Given the description of an element on the screen output the (x, y) to click on. 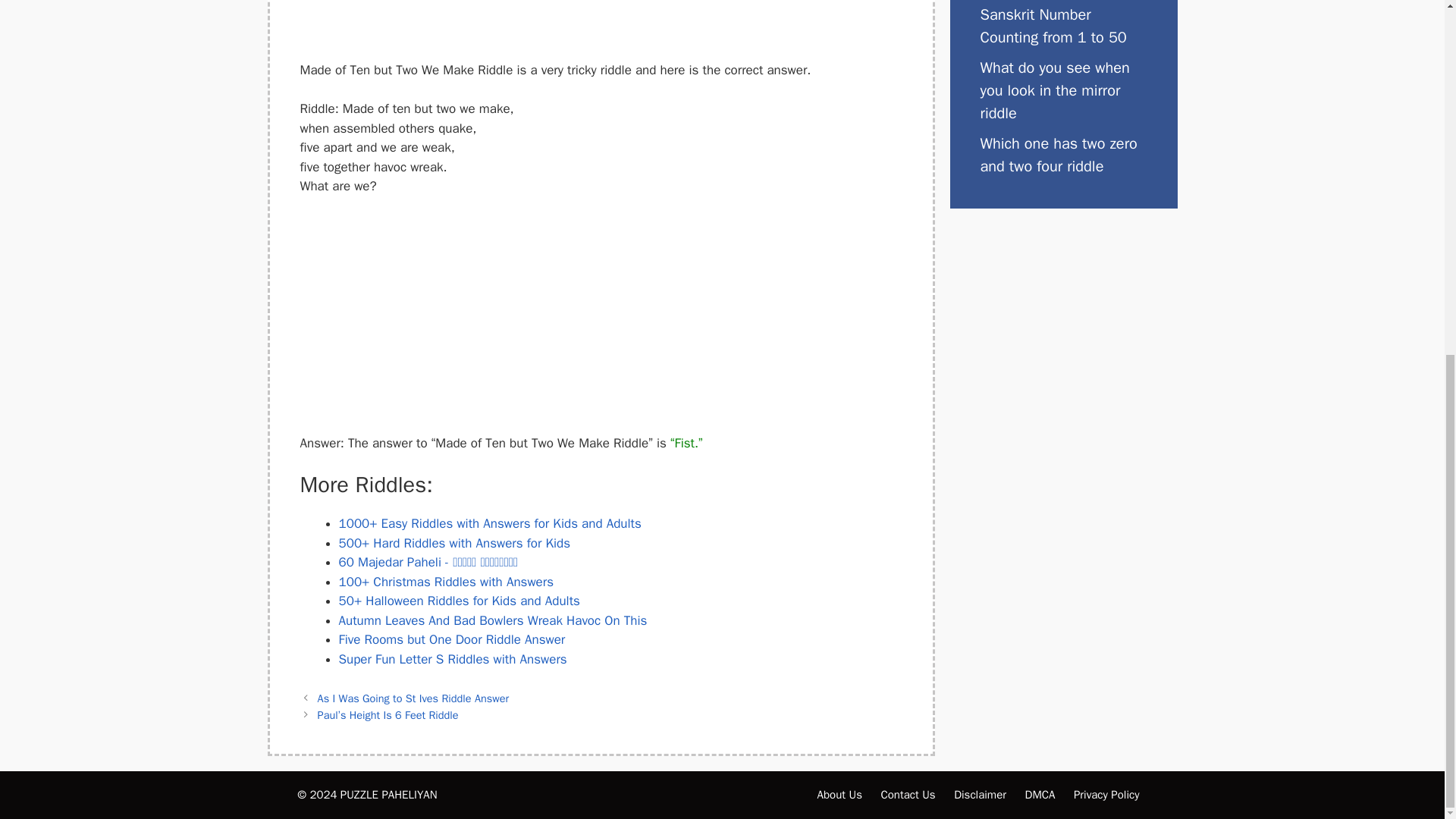
Advertisement (600, 27)
Advertisement (600, 321)
As I Was Going to St Ives Riddle Answer (413, 698)
Autumn Leaves And Bad Bowlers Wreak Havoc On This (491, 620)
Super Fun Letter S Riddles with Answers (451, 659)
Five Rooms but One Door Riddle Answer (450, 639)
